Given the description of an element on the screen output the (x, y) to click on. 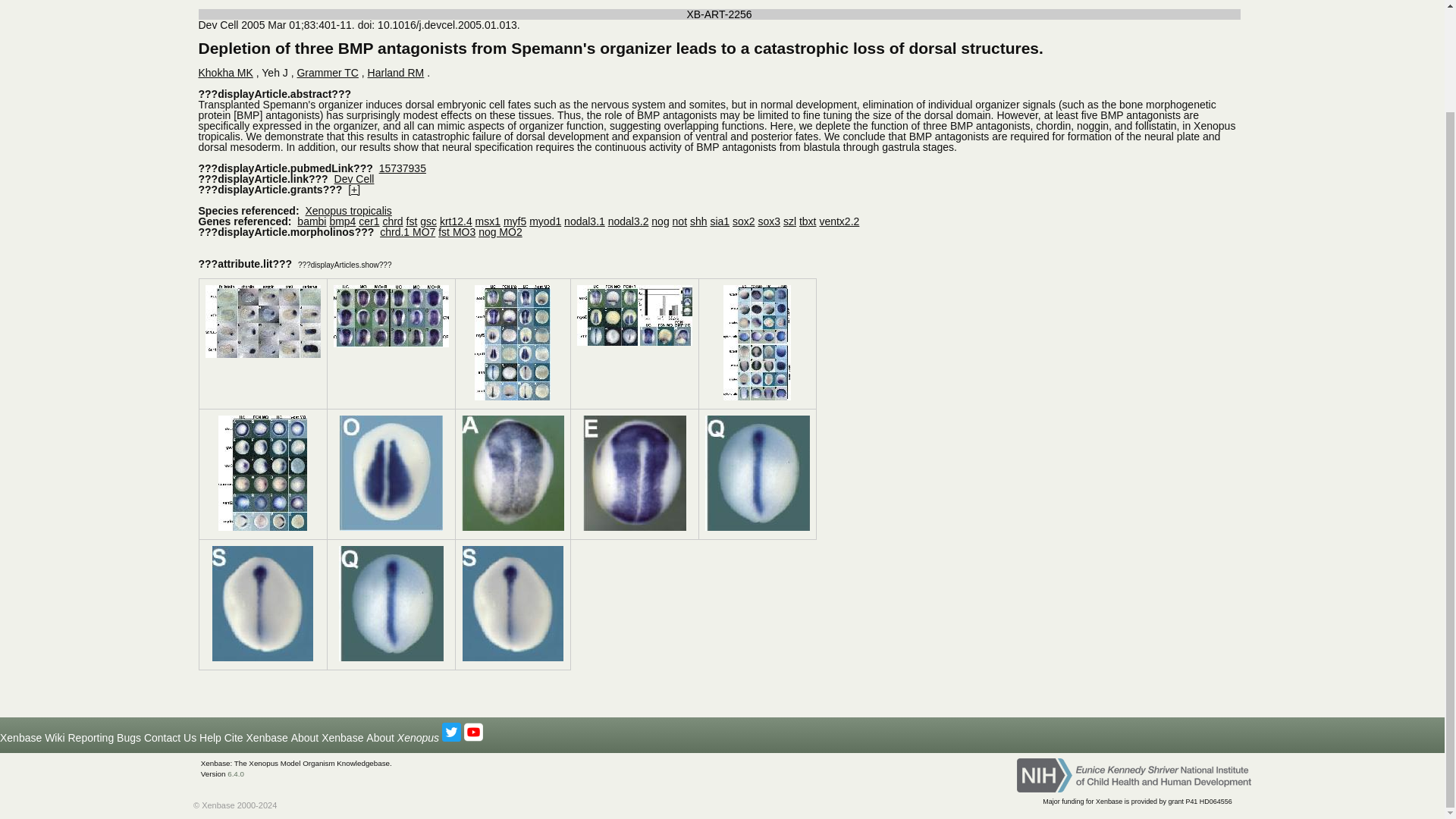
3106 (512, 396)
Xenbase Image (262, 321)
157165 (756, 527)
3108 (756, 396)
Xenbase Image (756, 472)
3105 (390, 343)
Xenbase Image (390, 316)
157164 (633, 527)
157163 (512, 527)
3109 (262, 527)
Xenbase Image (390, 472)
Xenbase Image (633, 315)
3107 (633, 342)
3104 (262, 354)
157162 (390, 527)
